Given the description of an element on the screen output the (x, y) to click on. 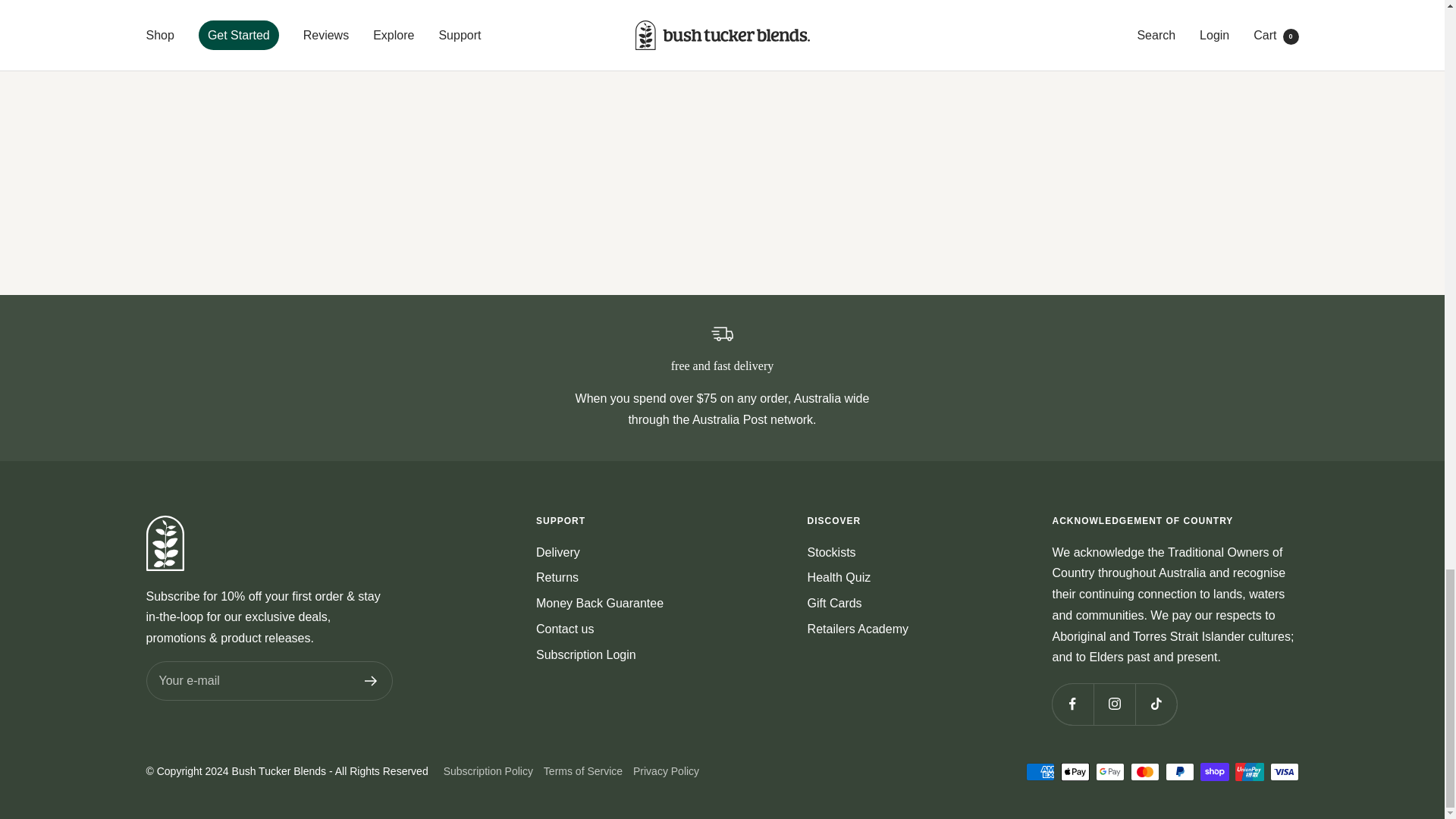
Register (370, 680)
